Given the description of an element on the screen output the (x, y) to click on. 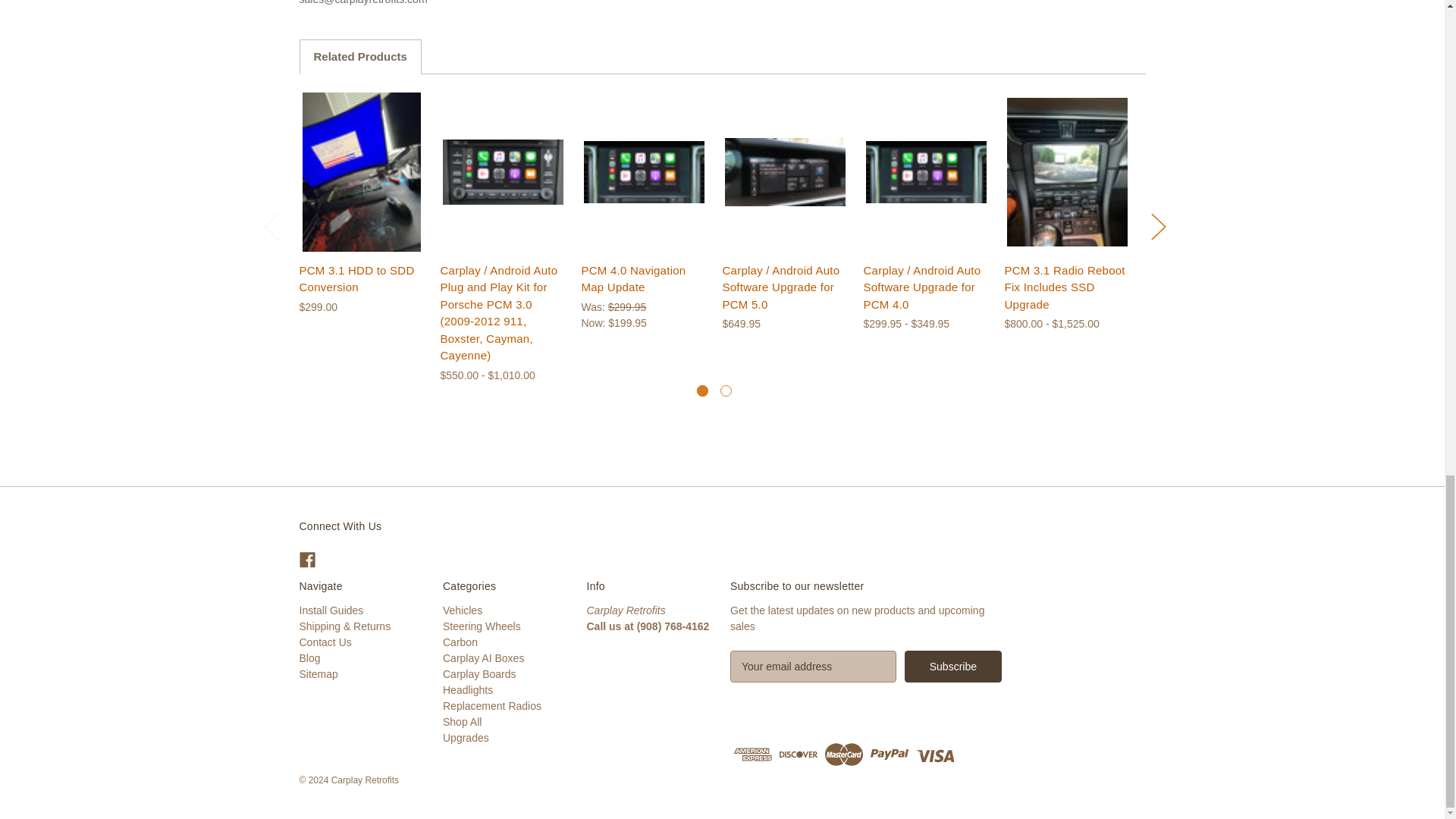
PayPal (889, 754)
Subscribe (952, 666)
Discover (797, 754)
Mastercard (844, 754)
PCM 4.0 Navigation Map Update (643, 171)
American Express (752, 754)
